Given the description of an element on the screen output the (x, y) to click on. 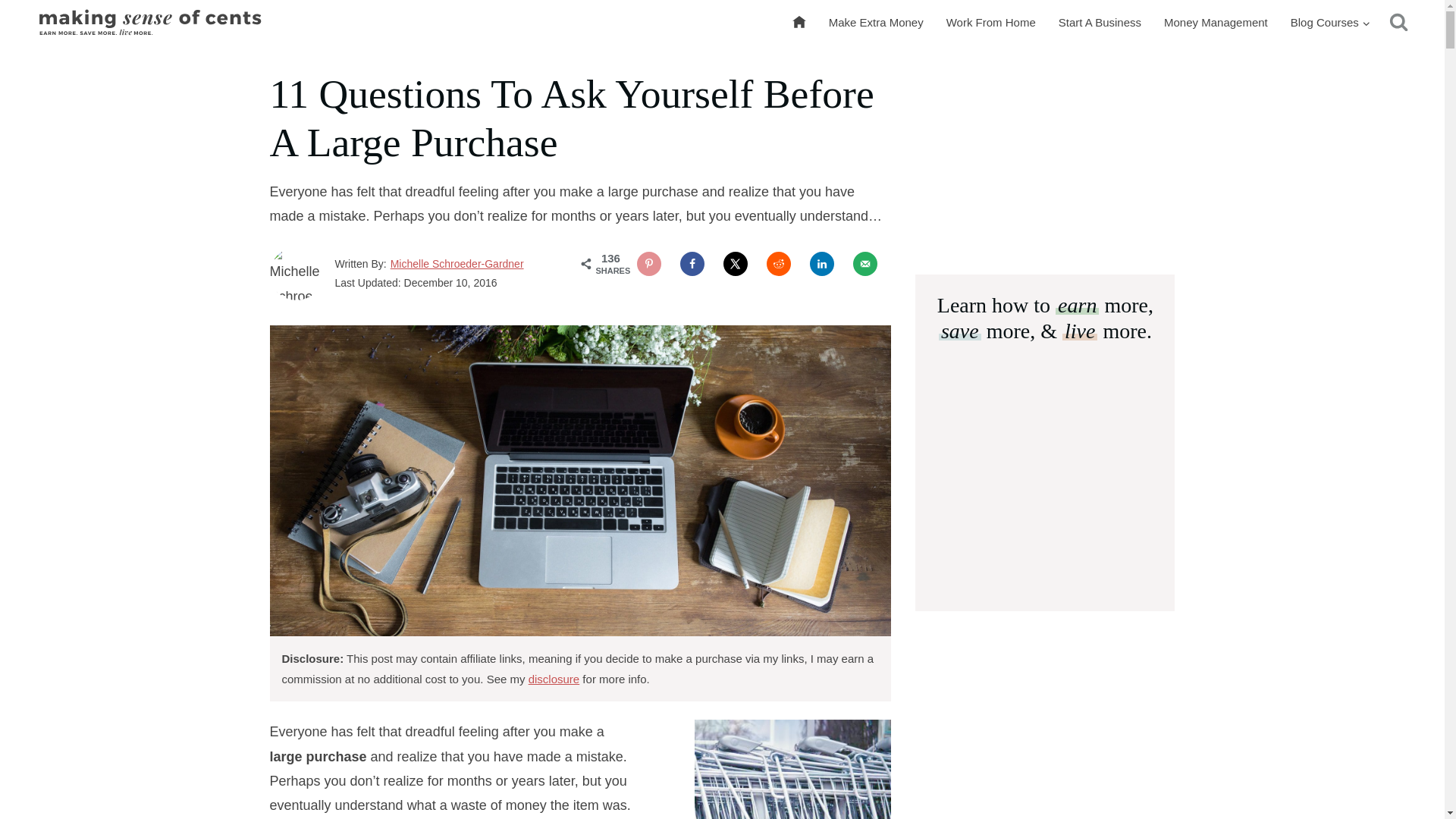
Share on Facebook (691, 263)
Michelle Schroeder-Gardner (457, 263)
disclosure (553, 678)
Start A Business (1099, 22)
Send over email (865, 263)
Share on X (735, 263)
Money Management (1216, 22)
Blog Courses (1330, 22)
Make Extra Money (875, 22)
Save to Pinterest (649, 263)
